Given the description of an element on the screen output the (x, y) to click on. 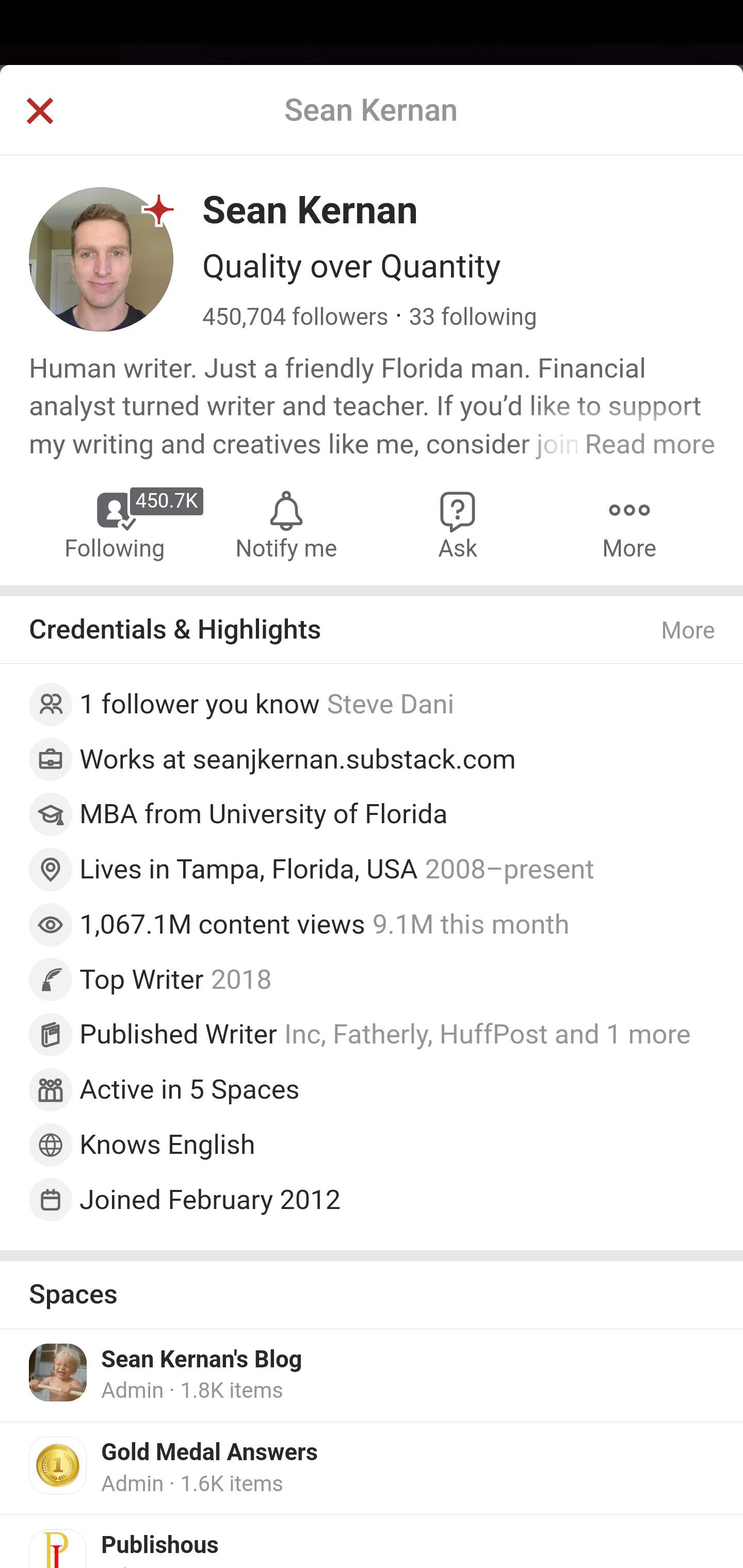
 (39, 112)
Quora+ Subscriber (159, 208)
450,704 followers (296, 317)
33 following (472, 317)
Following Sean Kernan 450.7K Following (115, 524)
Notify me (285, 524)
Ask (458, 524)
More (628, 524)
More (688, 630)
Profile photo for Mason Marcobello (58, 704)
Published Writer (178, 1034)
Icon for Sean Kernan's Blog (58, 1372)
Sean Kernan's Blog (202, 1359)
Icon for Gold Medal Answers (58, 1464)
Gold Medal Answers (210, 1452)
Icon for Publishous (58, 1548)
Publishous (160, 1545)
